Given the description of an element on the screen output the (x, y) to click on. 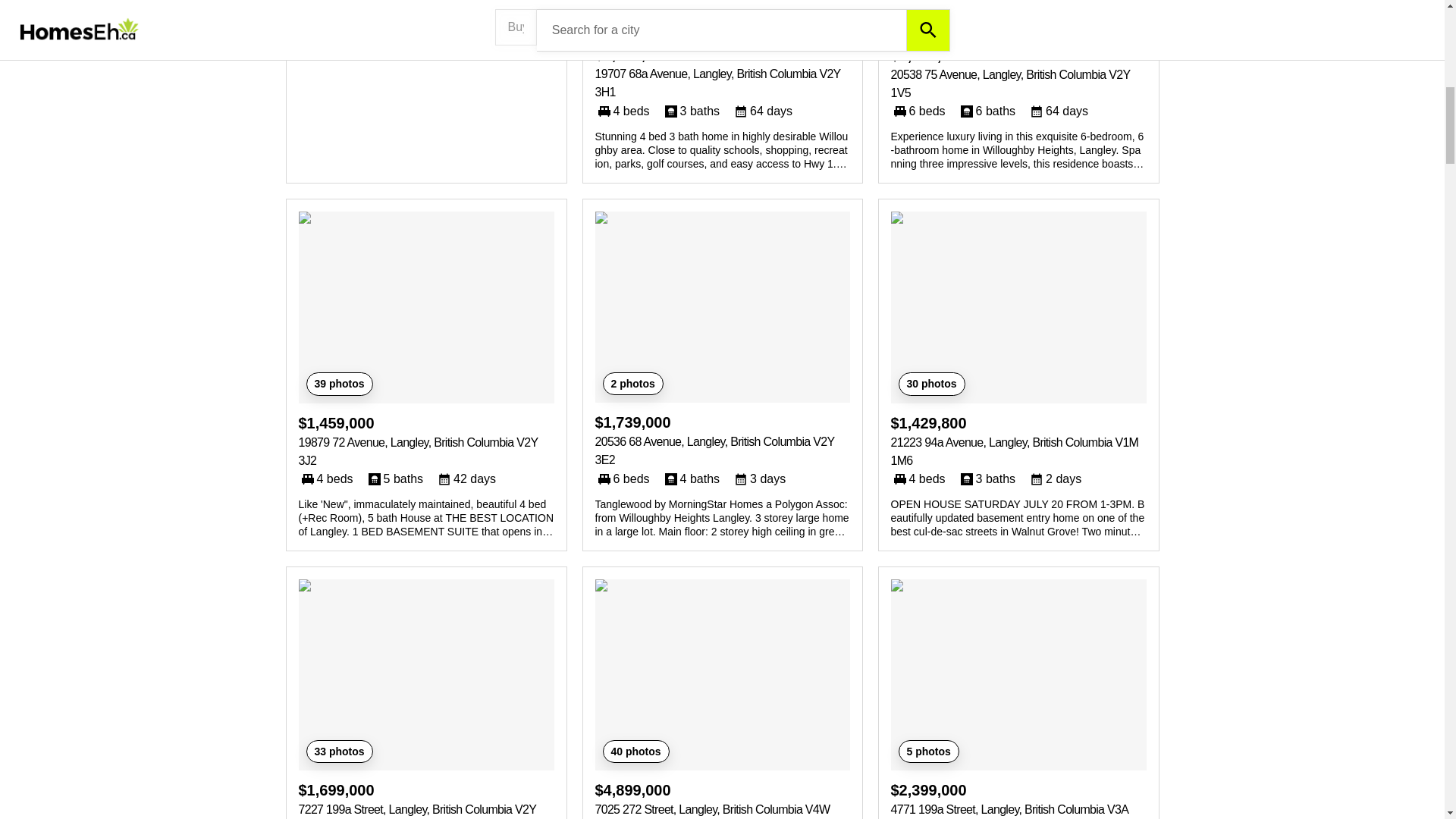
Advertisement (426, 28)
